Given the description of an element on the screen output the (x, y) to click on. 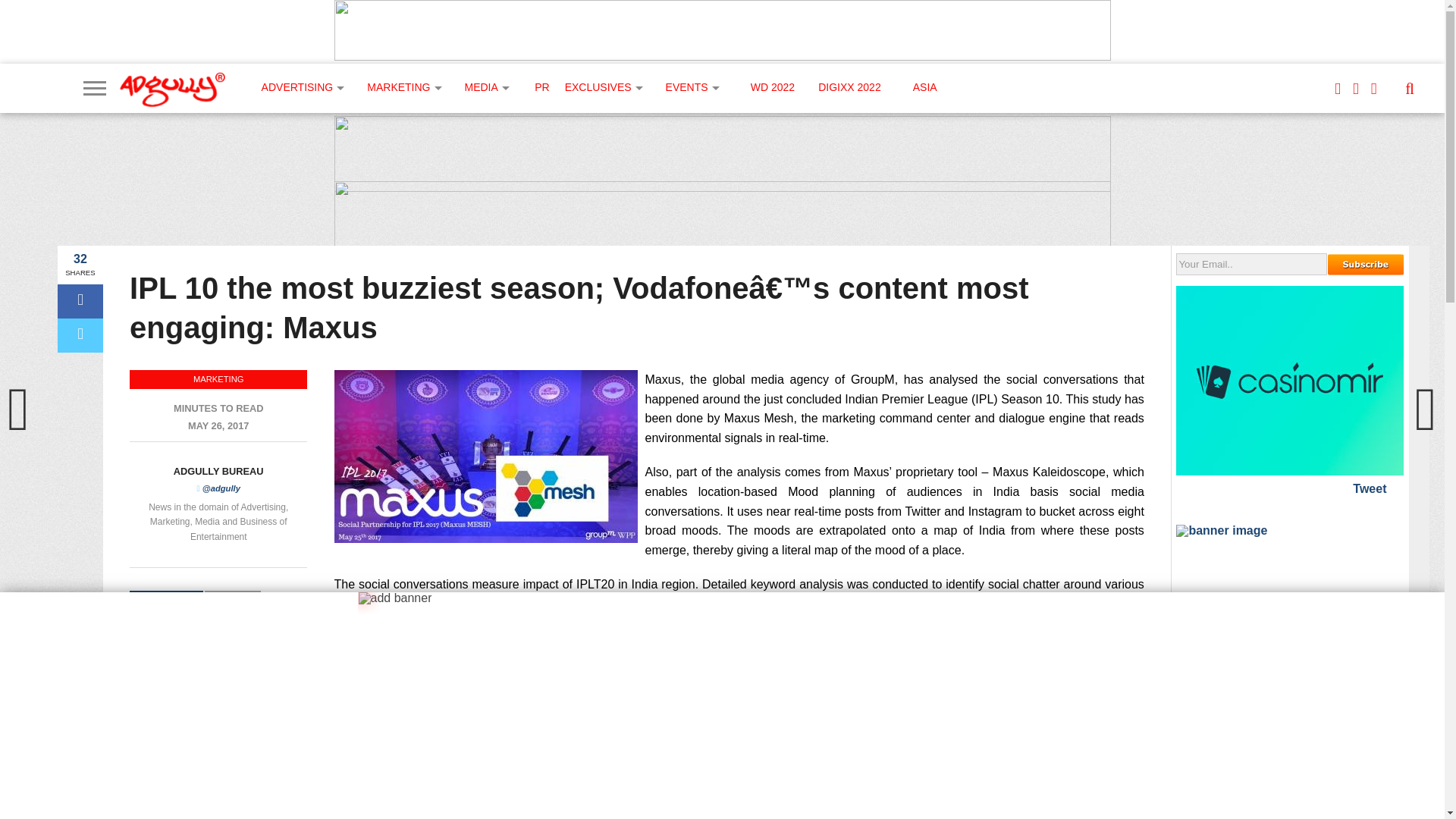
Your Email.. (1251, 264)
Posts by Adgully Bureau (218, 471)
Share on Facebook (80, 301)
Tweet This Post (80, 335)
